Given the description of an element on the screen output the (x, y) to click on. 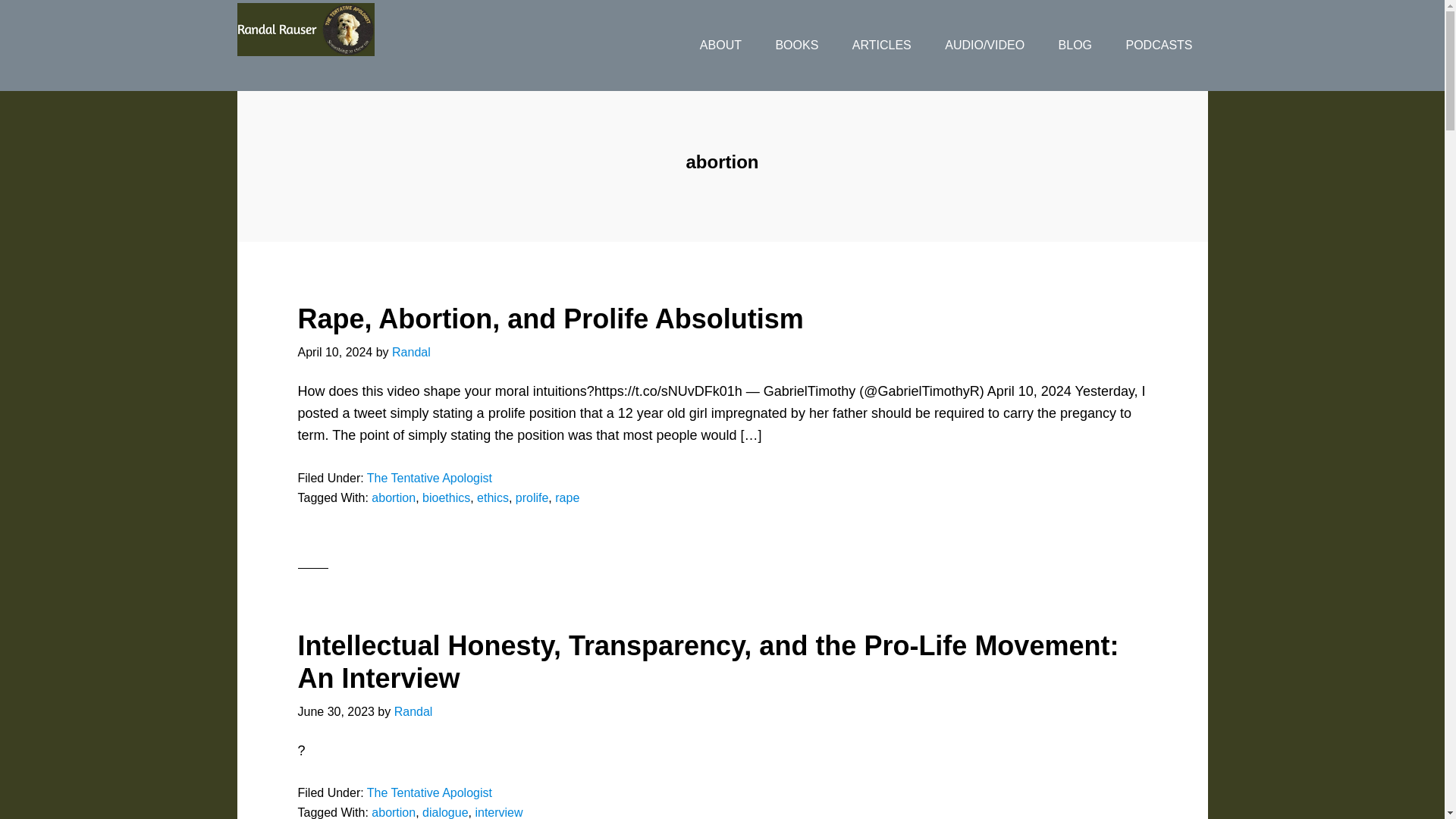
ethics (492, 497)
Randal Rauser (357, 29)
Randal (410, 351)
The Tentative Apologist (429, 792)
dialogue (445, 812)
bioethics (446, 497)
interview (498, 812)
Randal (413, 711)
abortion (392, 497)
